Given the description of an element on the screen output the (x, y) to click on. 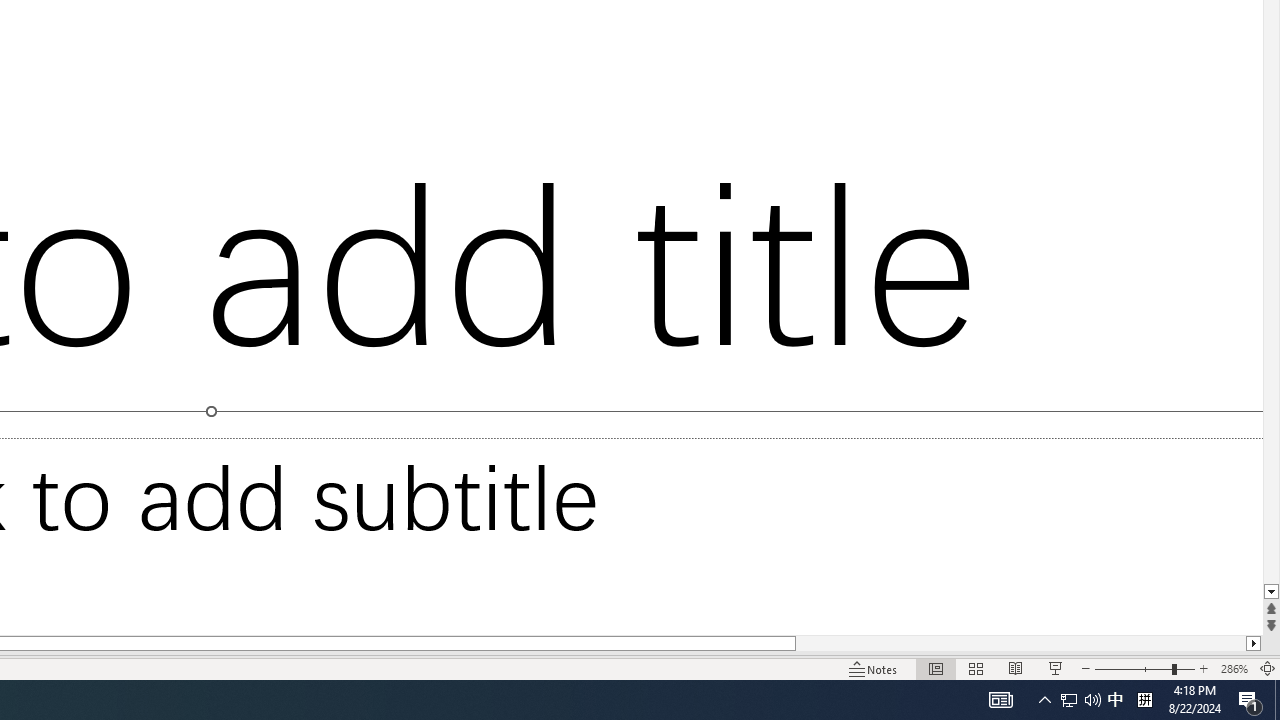
Zoom 286% (1234, 668)
